Given the description of an element on the screen output the (x, y) to click on. 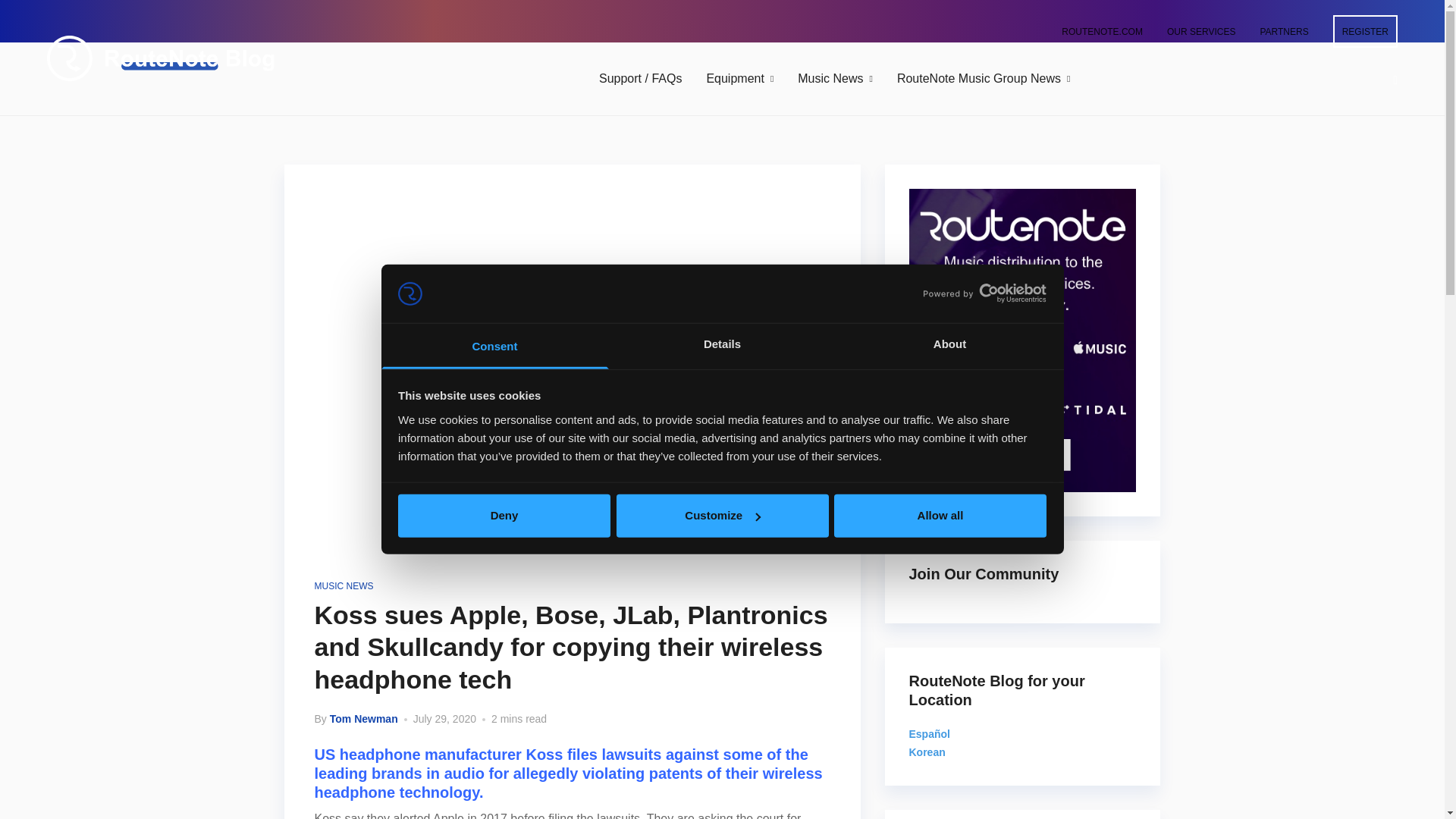
Consent (494, 346)
Details (721, 346)
About (948, 346)
